Given the description of an element on the screen output the (x, y) to click on. 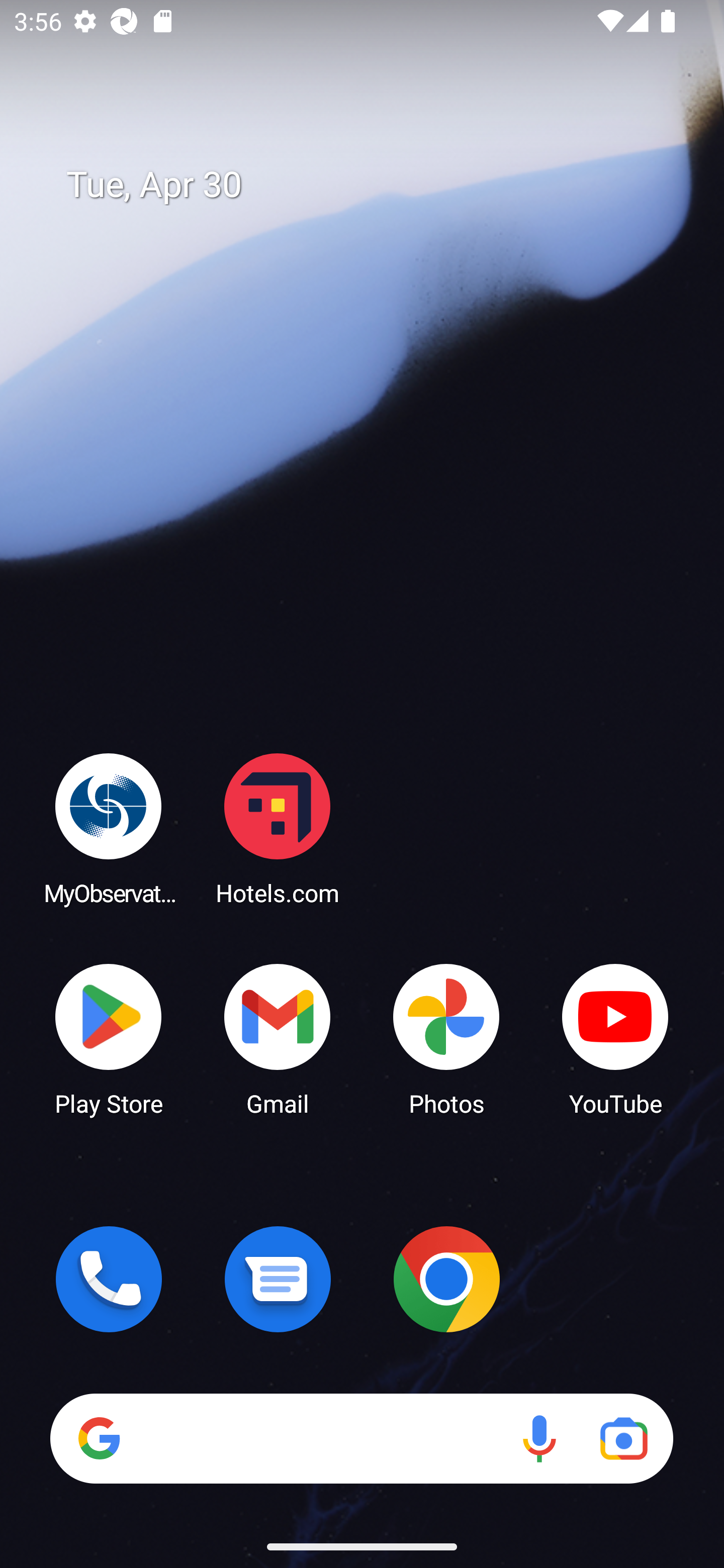
Tue, Apr 30 (375, 184)
MyObservatory (108, 828)
Hotels.com (277, 828)
Play Store (108, 1038)
Gmail (277, 1038)
Photos (445, 1038)
YouTube (615, 1038)
Phone (108, 1279)
Messages (277, 1279)
Chrome (446, 1279)
Voice search (539, 1438)
Google Lens (623, 1438)
